Given the description of an element on the screen output the (x, y) to click on. 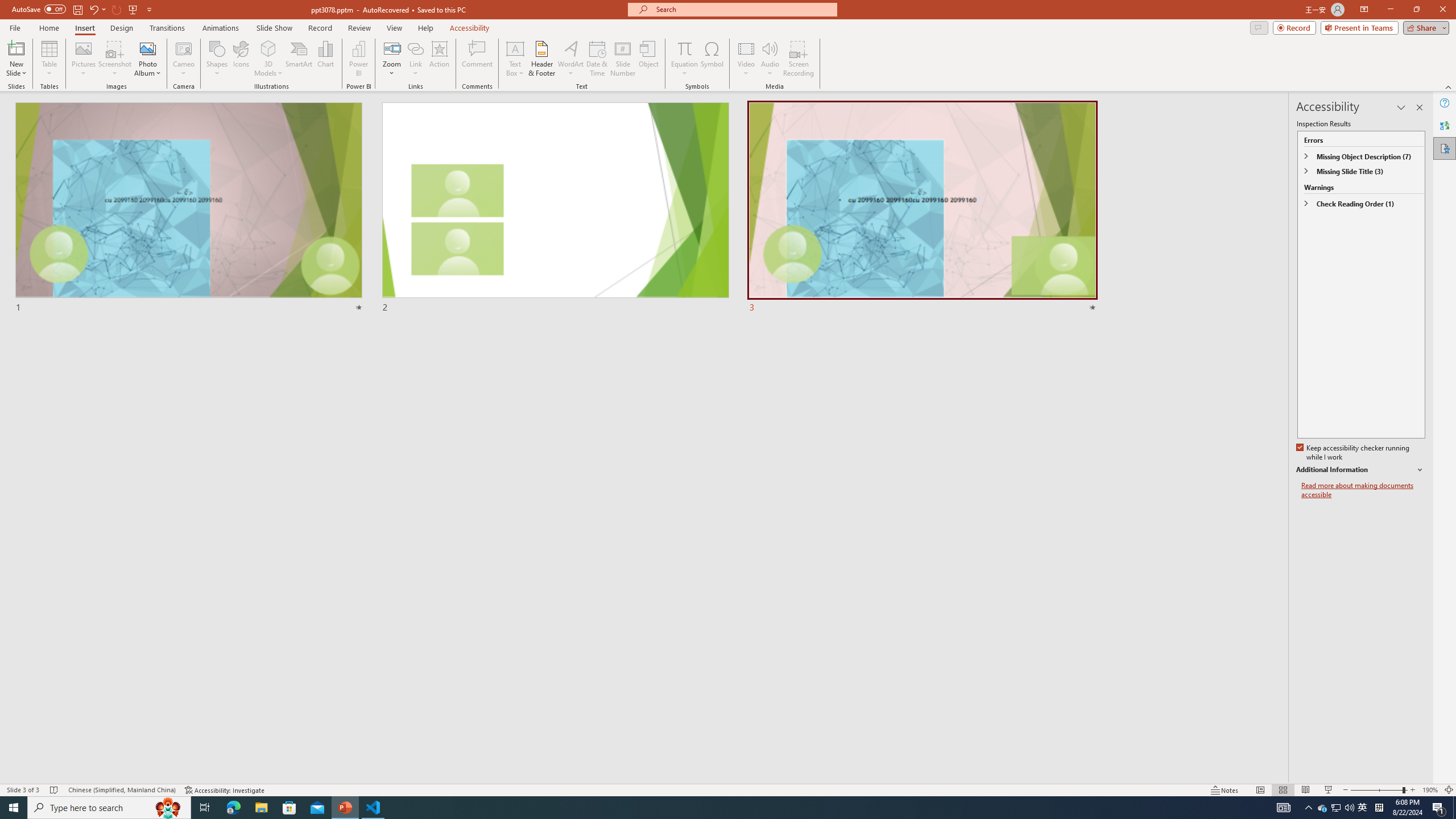
Zoom 190% (1430, 790)
Action (439, 58)
Table (49, 58)
Slide Number (622, 58)
SmartArt... (298, 58)
Link (415, 48)
